Given the description of an element on the screen output the (x, y) to click on. 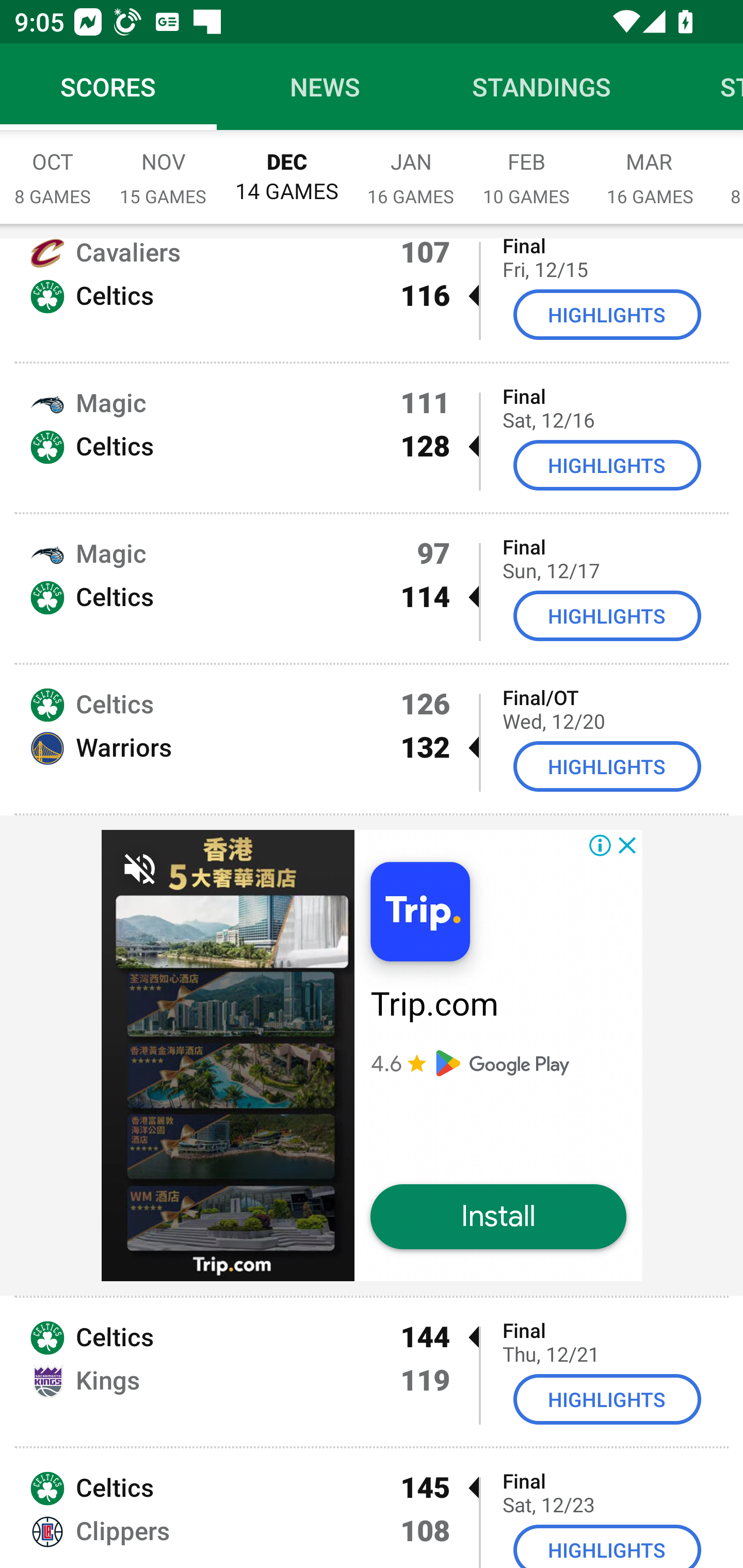
News NEWS (324, 86)
Standings STANDINGS (541, 86)
OCT 8 GAMES (52, 167)
NOV 15 GAMES (162, 167)
DEC 14 GAMES (286, 167)
JAN 16 GAMES (410, 167)
FEB 10 GAMES (525, 167)
MAR 16 GAMES (649, 167)
HIGHLIGHTS (607, 315)
HIGHLIGHTS (607, 465)
Magic 97 Celtics 114  Final Sun, 12/17 HIGHLIGHTS (371, 588)
HIGHLIGHTS (607, 616)
HIGHLIGHTS (607, 766)
Install (498, 1216)
HIGHLIGHTS (607, 1399)
HIGHLIGHTS (607, 1546)
